Given the description of an element on the screen output the (x, y) to click on. 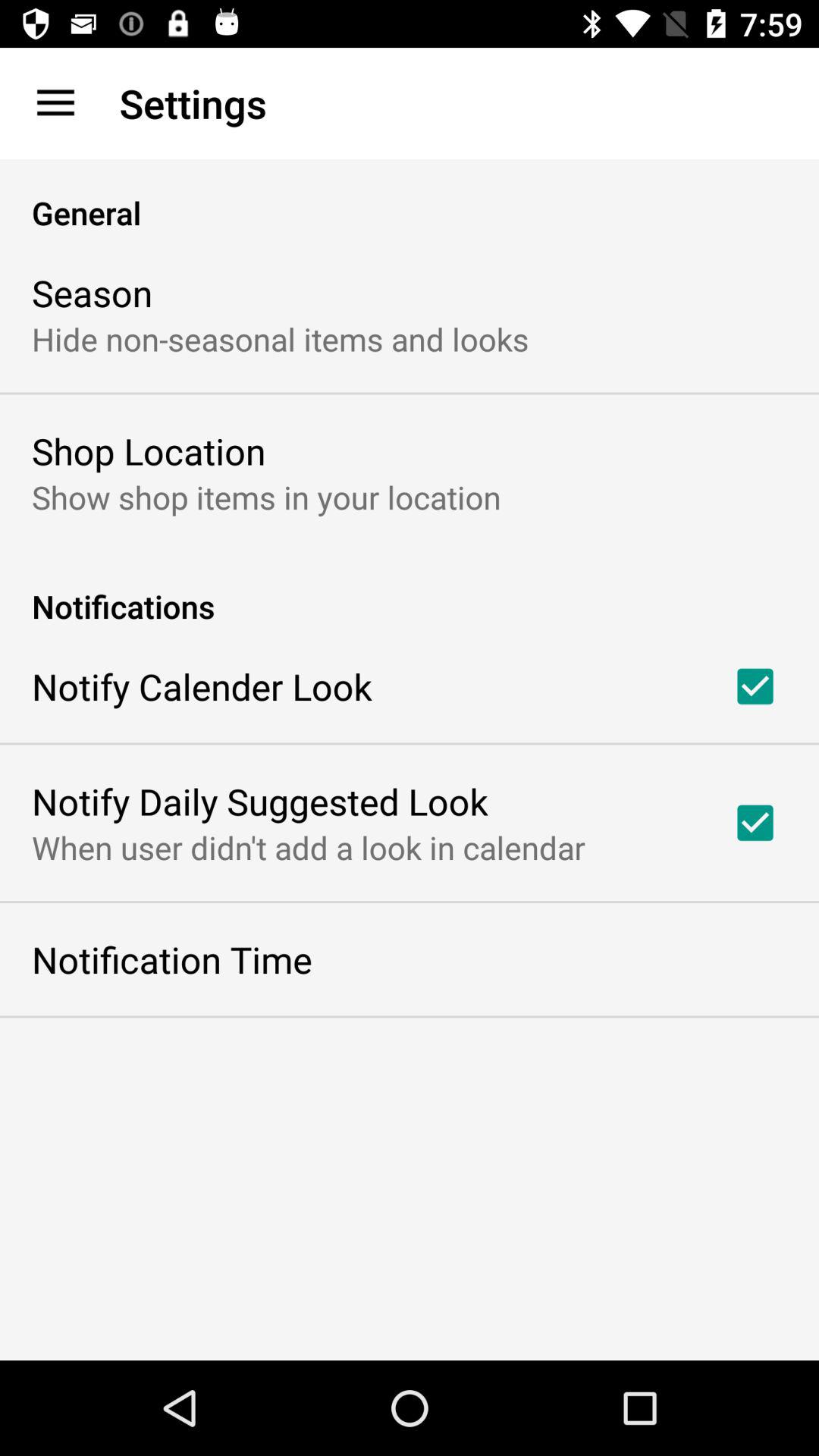
tap the app next to settings (55, 103)
